Given the description of an element on the screen output the (x, y) to click on. 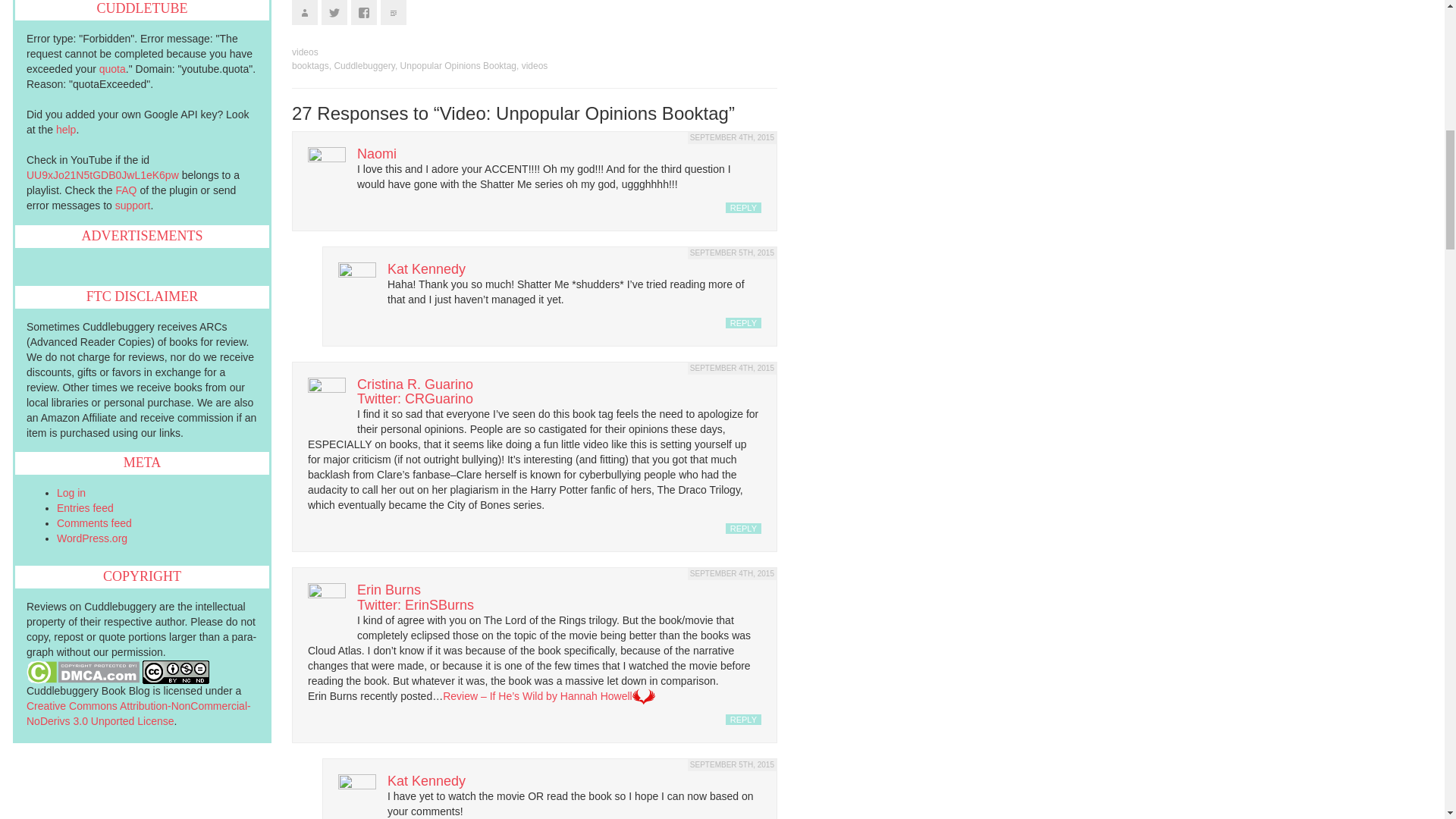
DMCA (82, 671)
